Given the description of an element on the screen output the (x, y) to click on. 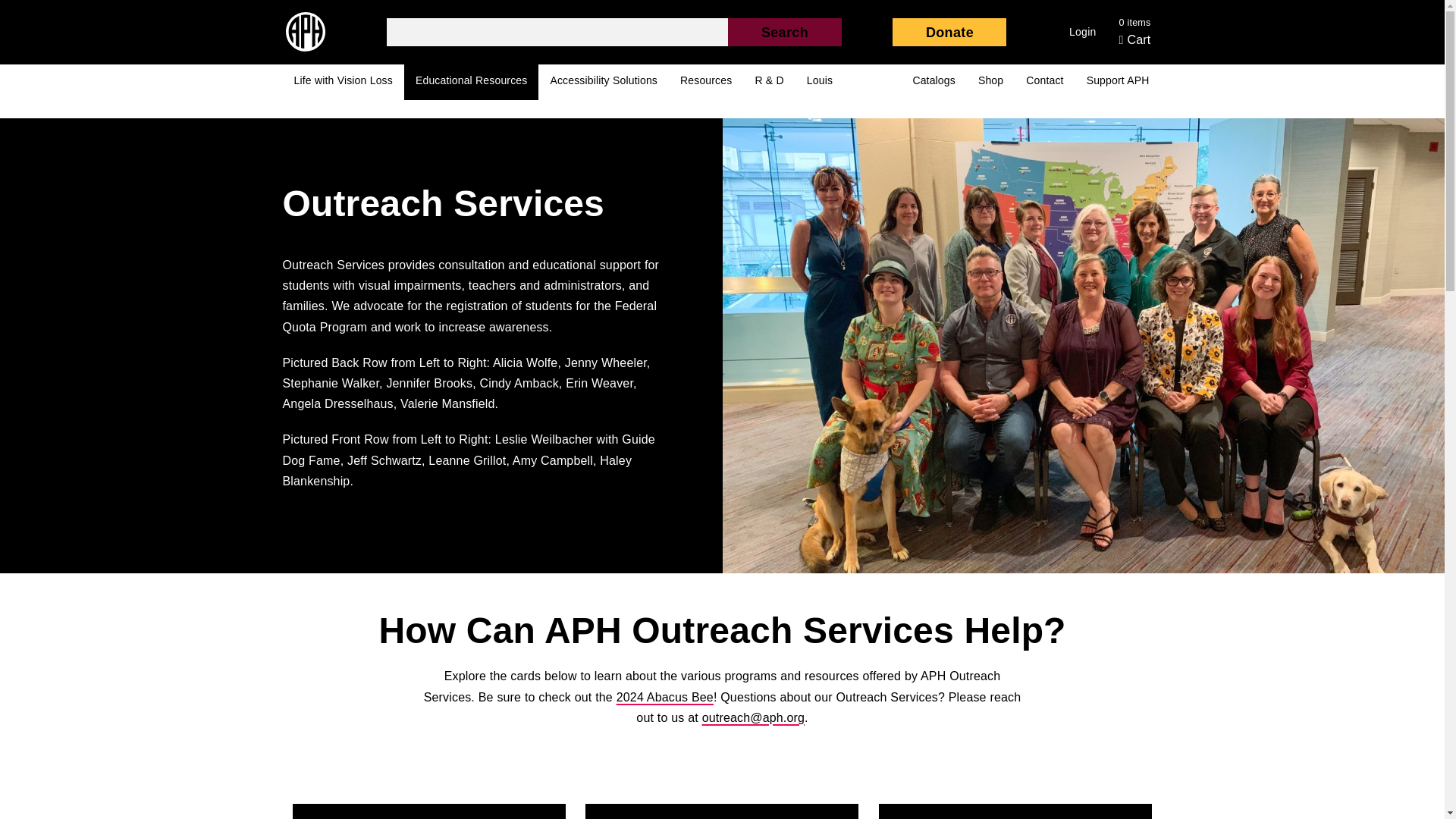
Login (1083, 32)
Search (784, 31)
Search (784, 31)
Accessibility Solutions (603, 81)
Educational Resources (471, 81)
Resources (705, 81)
Life with Vision Loss (342, 81)
Search (784, 31)
Donate (949, 31)
